Given the description of an element on the screen output the (x, y) to click on. 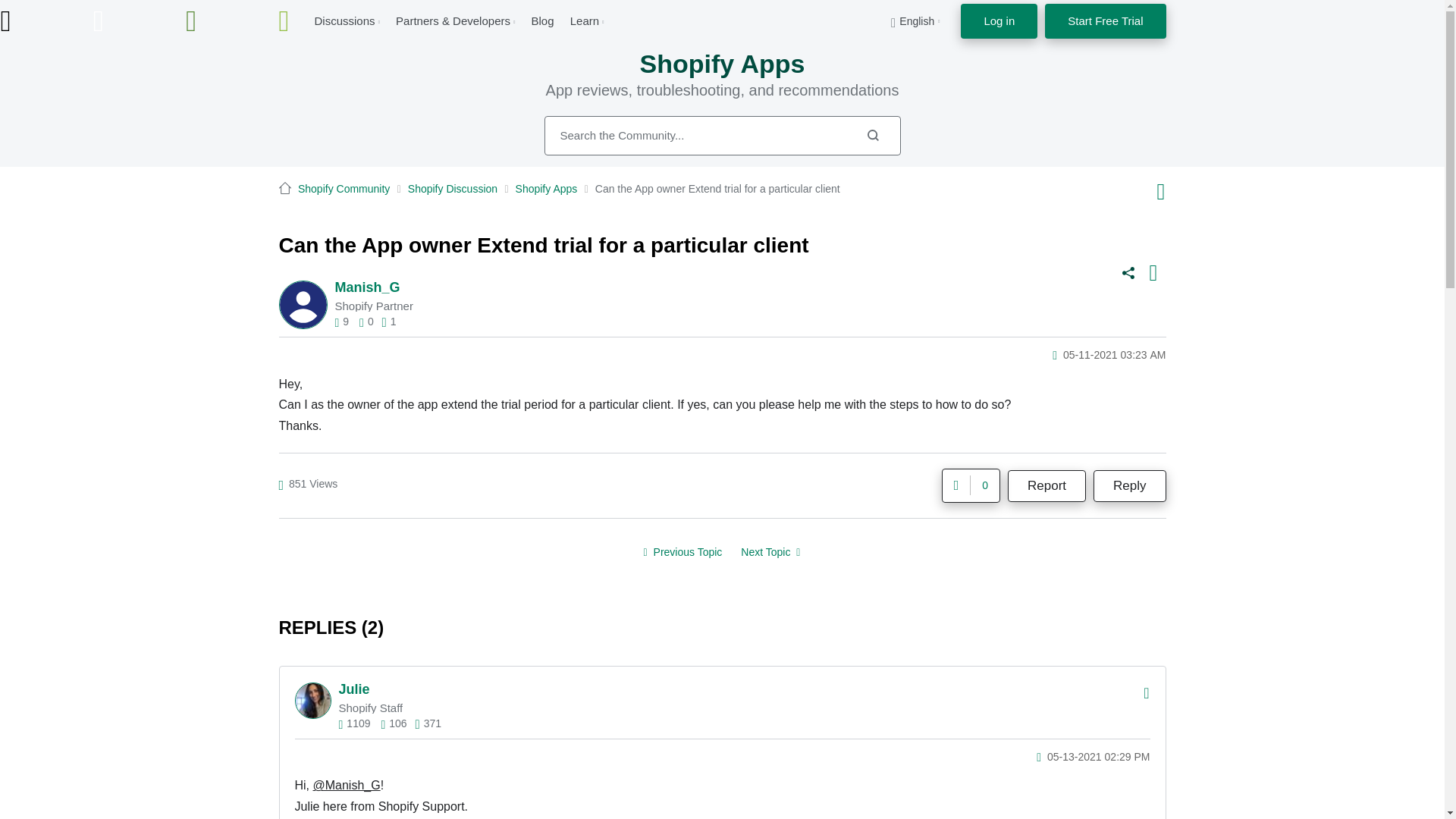
Discussions (344, 20)
Search (722, 135)
Search (872, 135)
Search (872, 135)
